Given the description of an element on the screen output the (x, y) to click on. 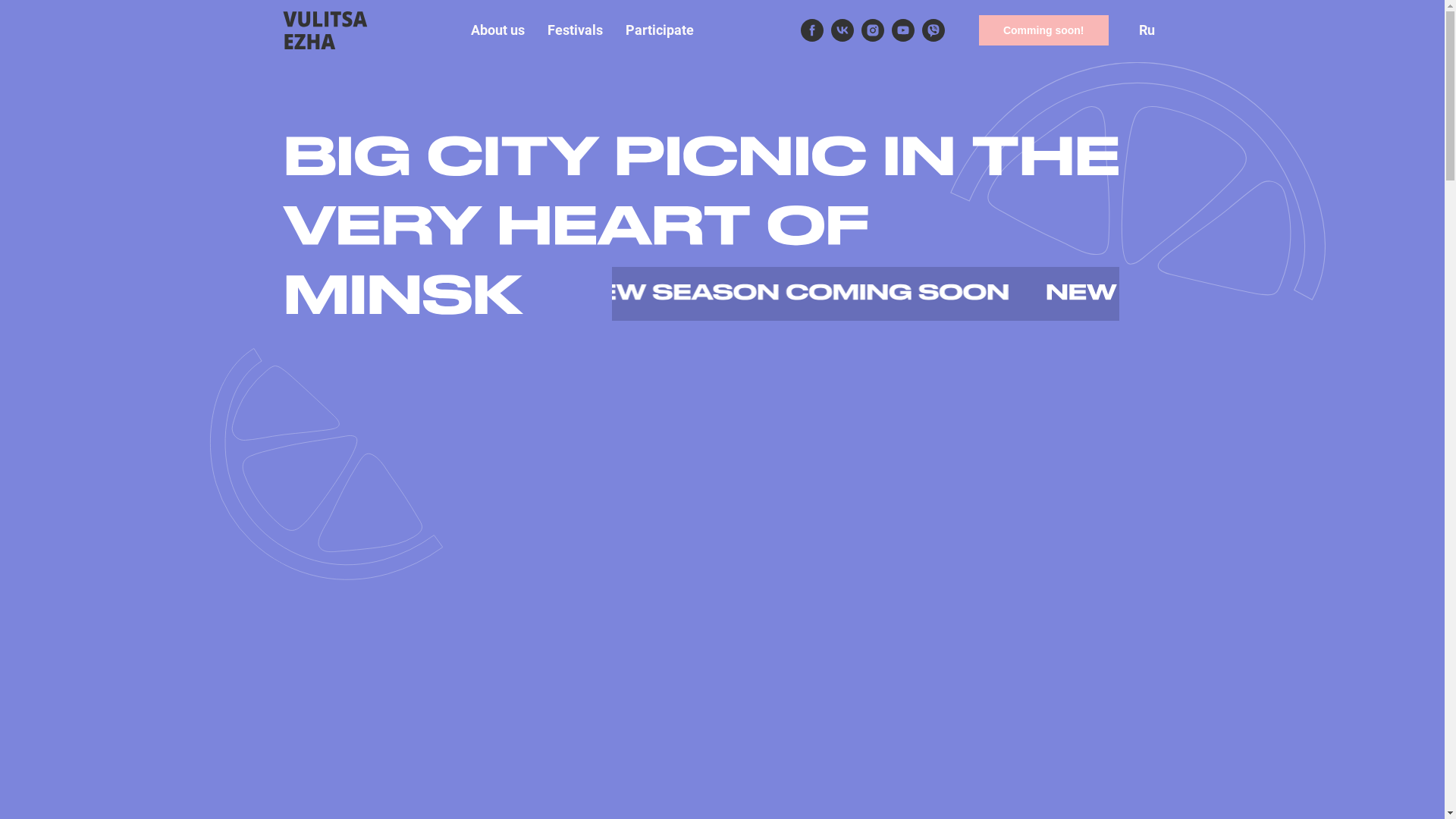
Ru Element type: text (1146, 29)
Participate Element type: text (659, 29)
About us Element type: text (497, 29)
Comming soon! Element type: text (1043, 30)
Festivals Element type: text (574, 29)
EN Element type: text (1405, 25)
